Given the description of an element on the screen output the (x, y) to click on. 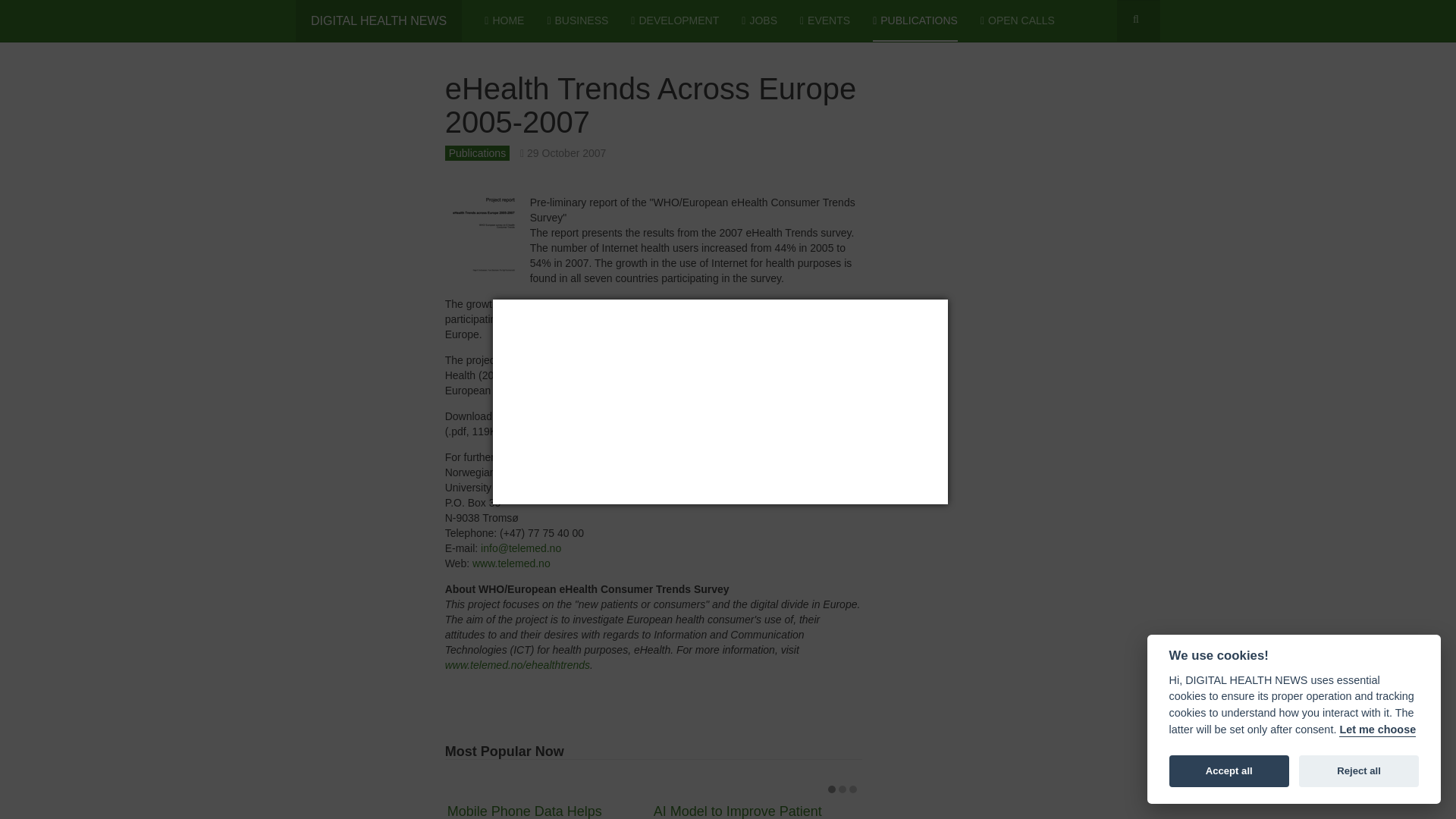
PUBLICATIONS (915, 20)
DIGITAL HEALTH NEWS (378, 20)
2 (841, 789)
EVENTS (824, 20)
DEVELOPMENT (674, 20)
www.telemed.no (510, 563)
DIGITAL HEALTH NEWS (378, 20)
Publications (478, 152)
OPEN CALLS (1016, 20)
BUSINESS (577, 20)
1 (831, 789)
HOME (504, 20)
3 (852, 789)
AI Model to Improve Patient Response to Cancer Therapy (737, 811)
